Given the description of an element on the screen output the (x, y) to click on. 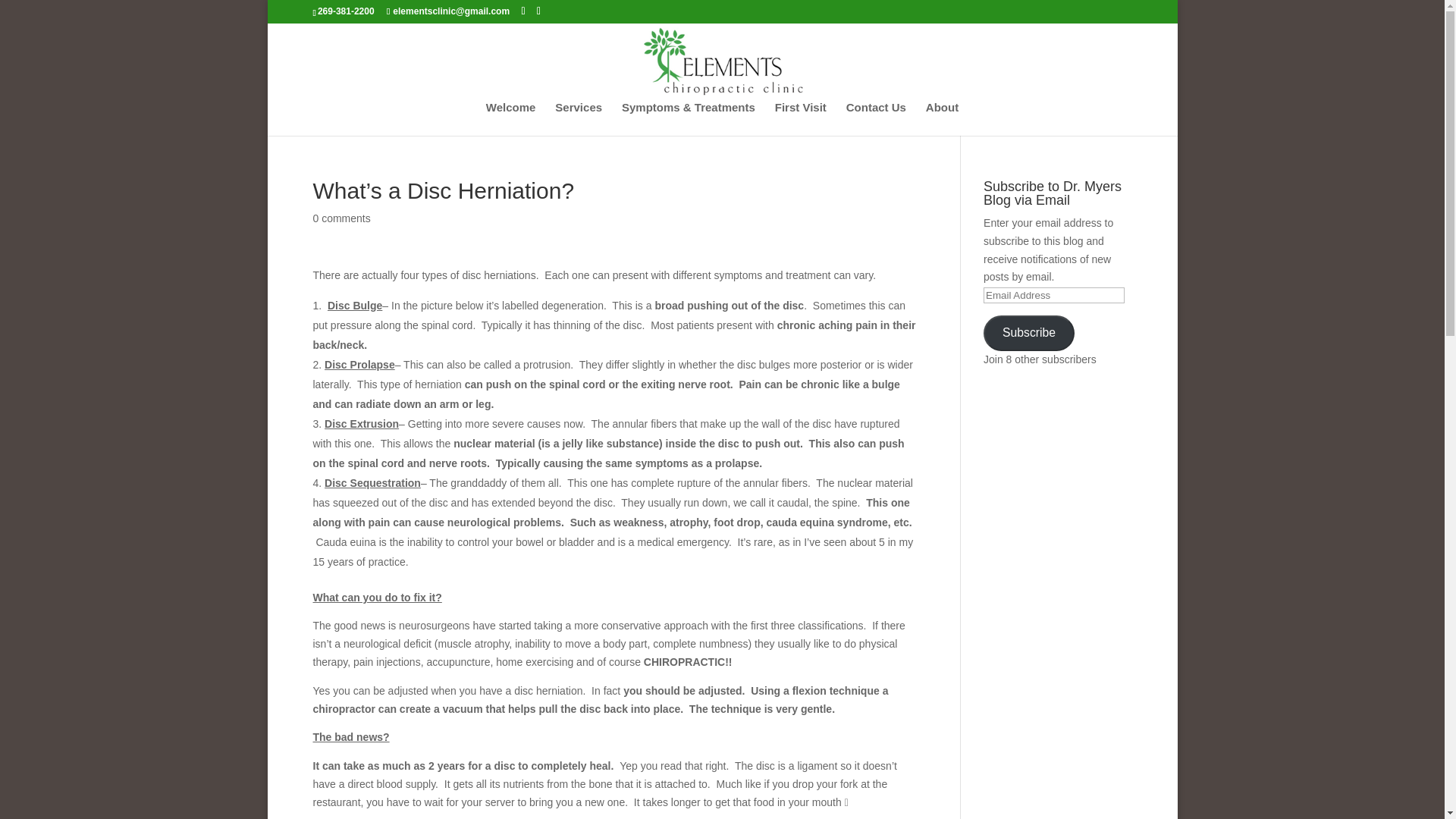
First Visit (800, 118)
Welcome (510, 118)
Subscribe (1029, 333)
About (942, 118)
0 comments (341, 218)
Contact Us (875, 118)
Services (578, 118)
